Given the description of an element on the screen output the (x, y) to click on. 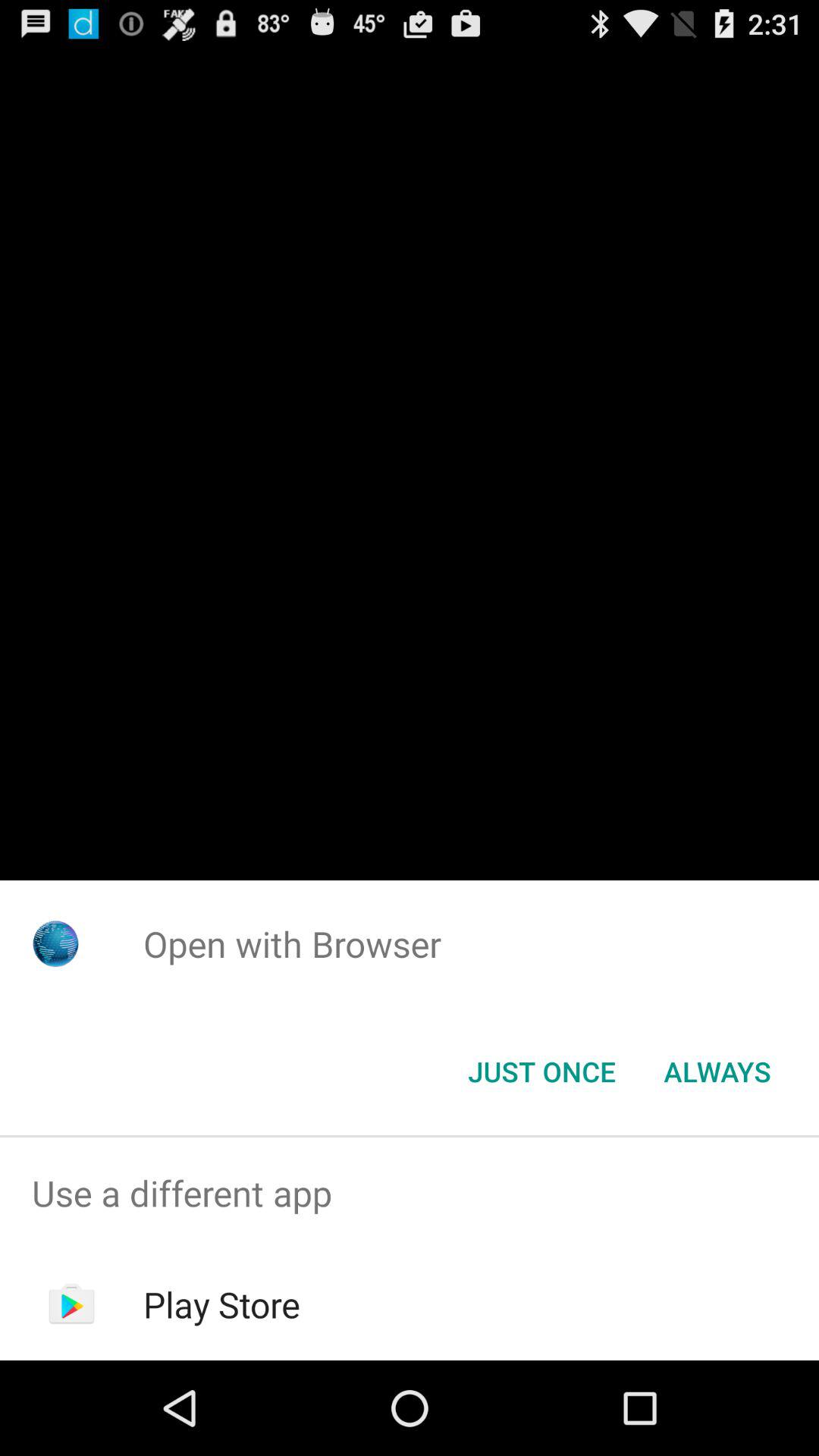
tap icon below the use a different (221, 1304)
